Given the description of an element on the screen output the (x, y) to click on. 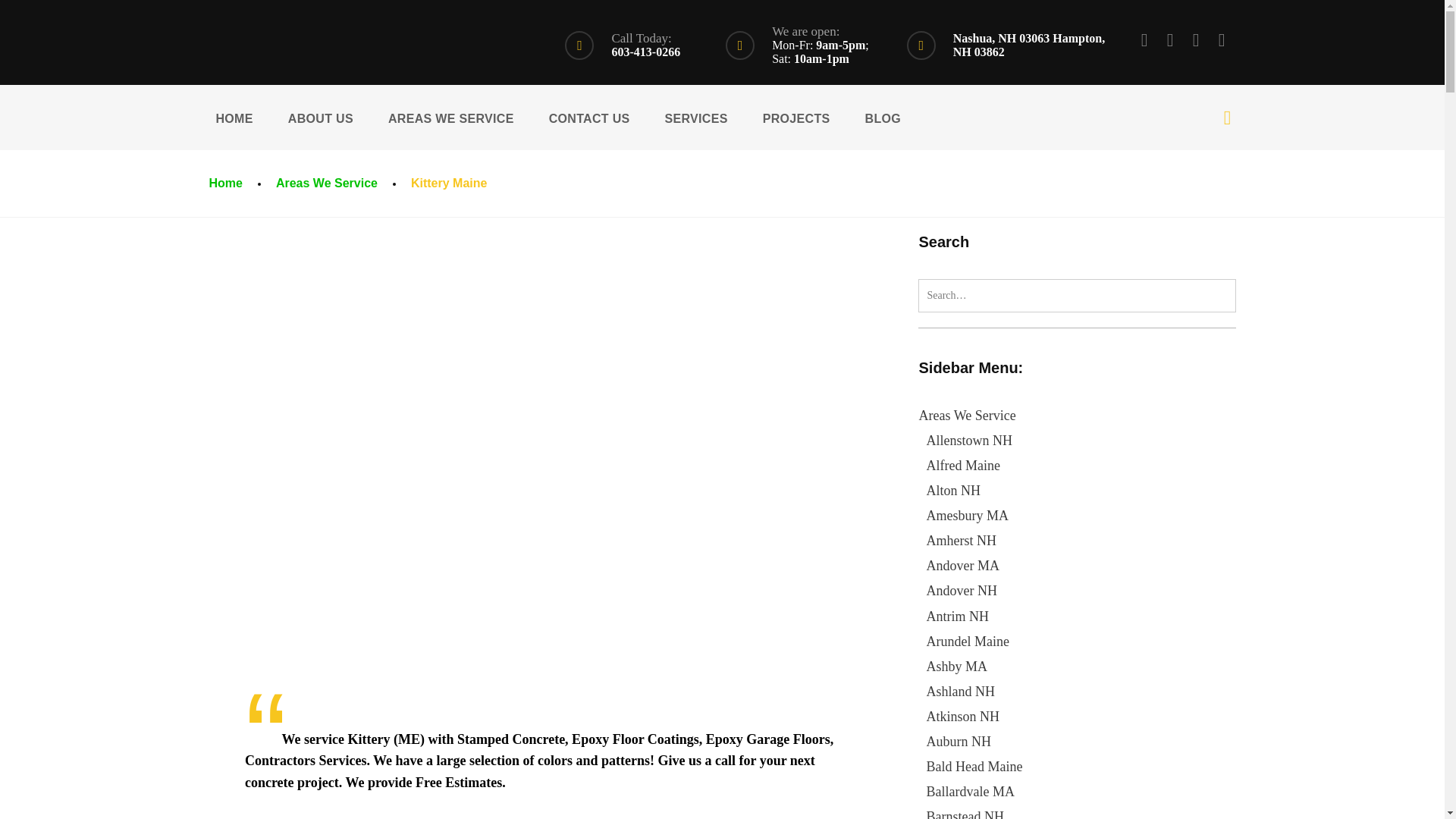
Home (224, 182)
Auburn NH (958, 741)
Ashby MA (956, 666)
AREAS WE SERVICE (451, 117)
Alton NH (952, 490)
Bald Head Maine (974, 766)
Areas We Service (326, 182)
Andover NH (960, 590)
CONTACT US (589, 117)
Atkinson NH (962, 716)
